Given the description of an element on the screen output the (x, y) to click on. 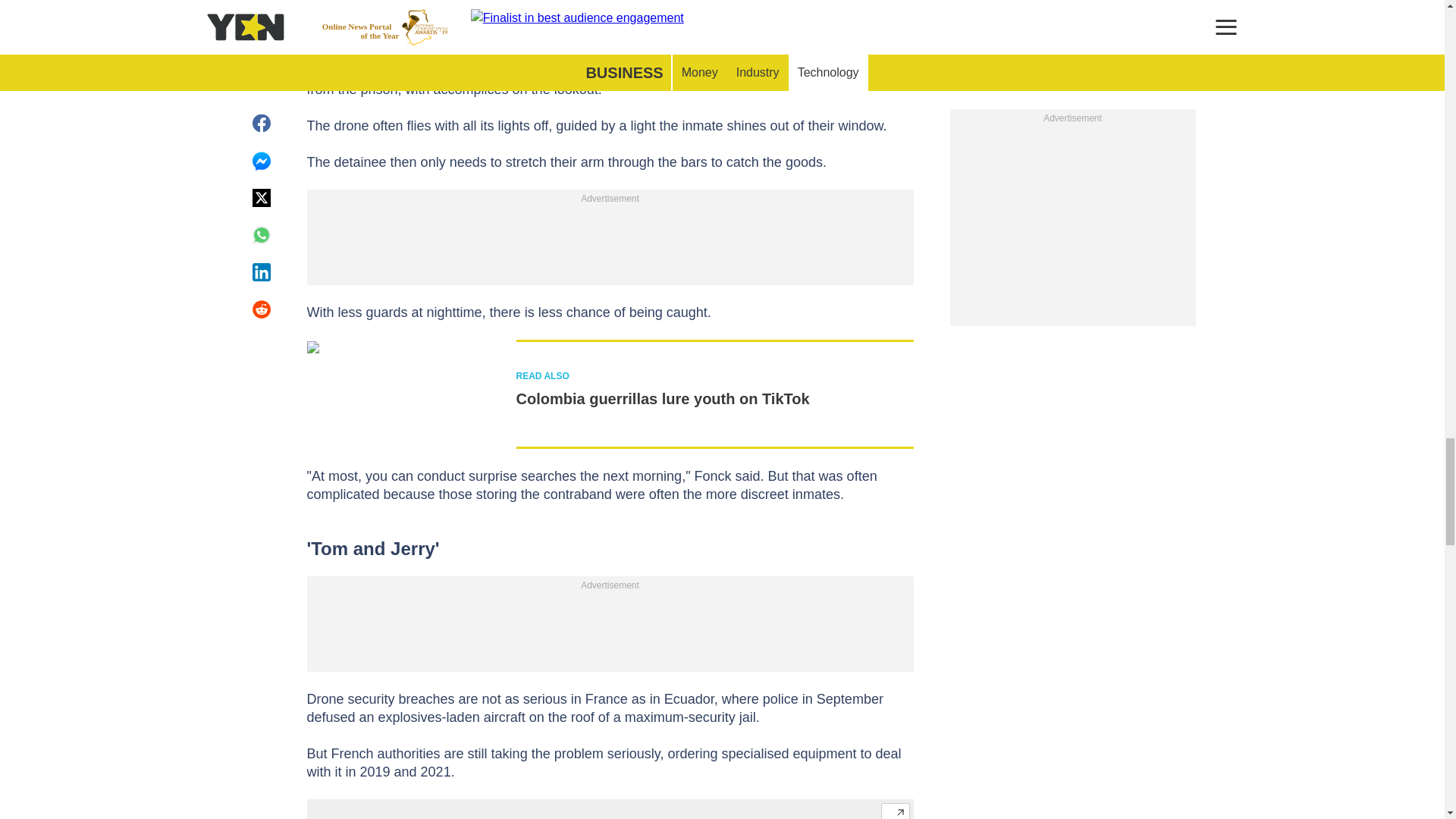
Expand image (895, 811)
